Given the description of an element on the screen output the (x, y) to click on. 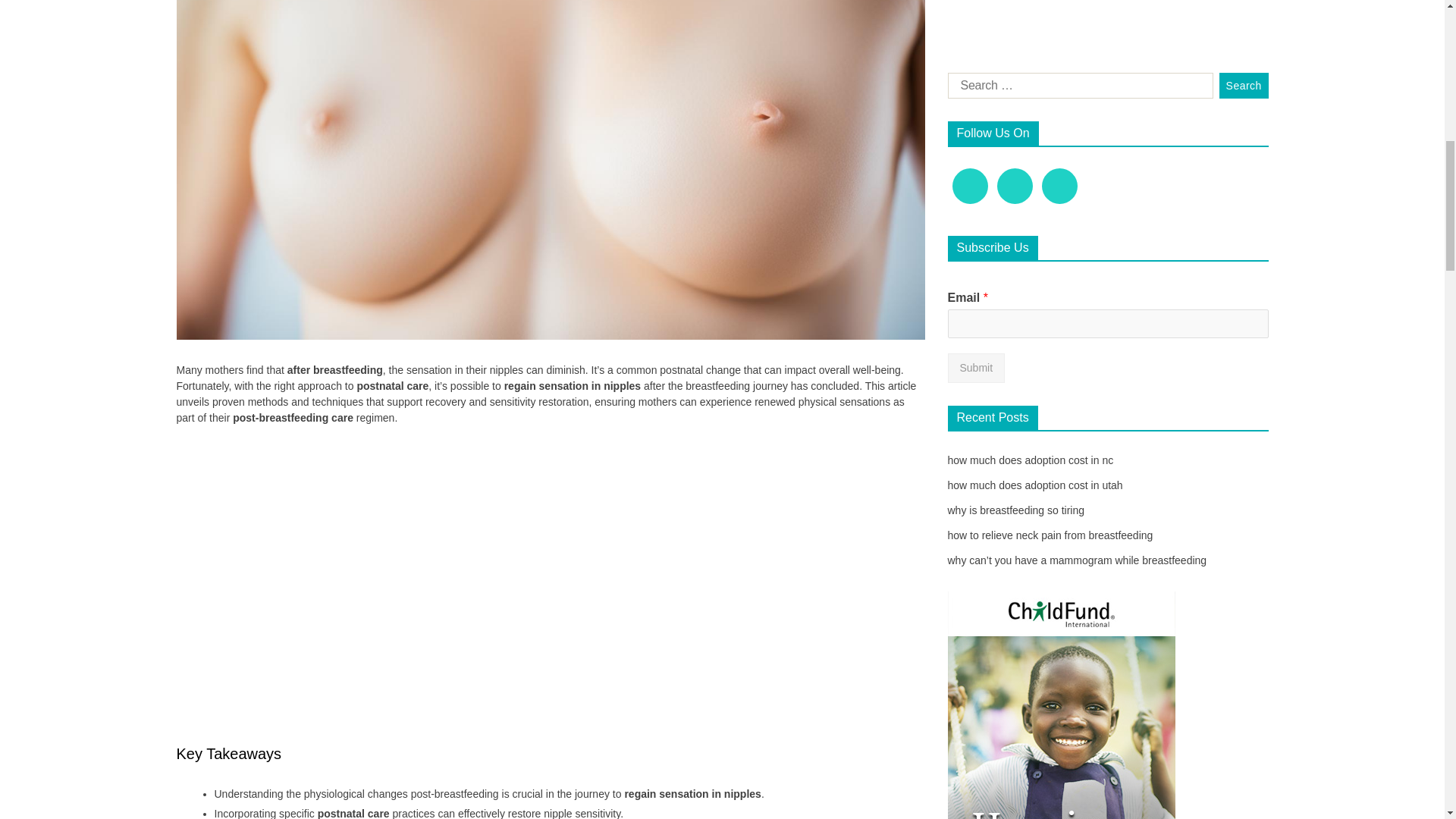
Submit (976, 71)
